Given the description of an element on the screen output the (x, y) to click on. 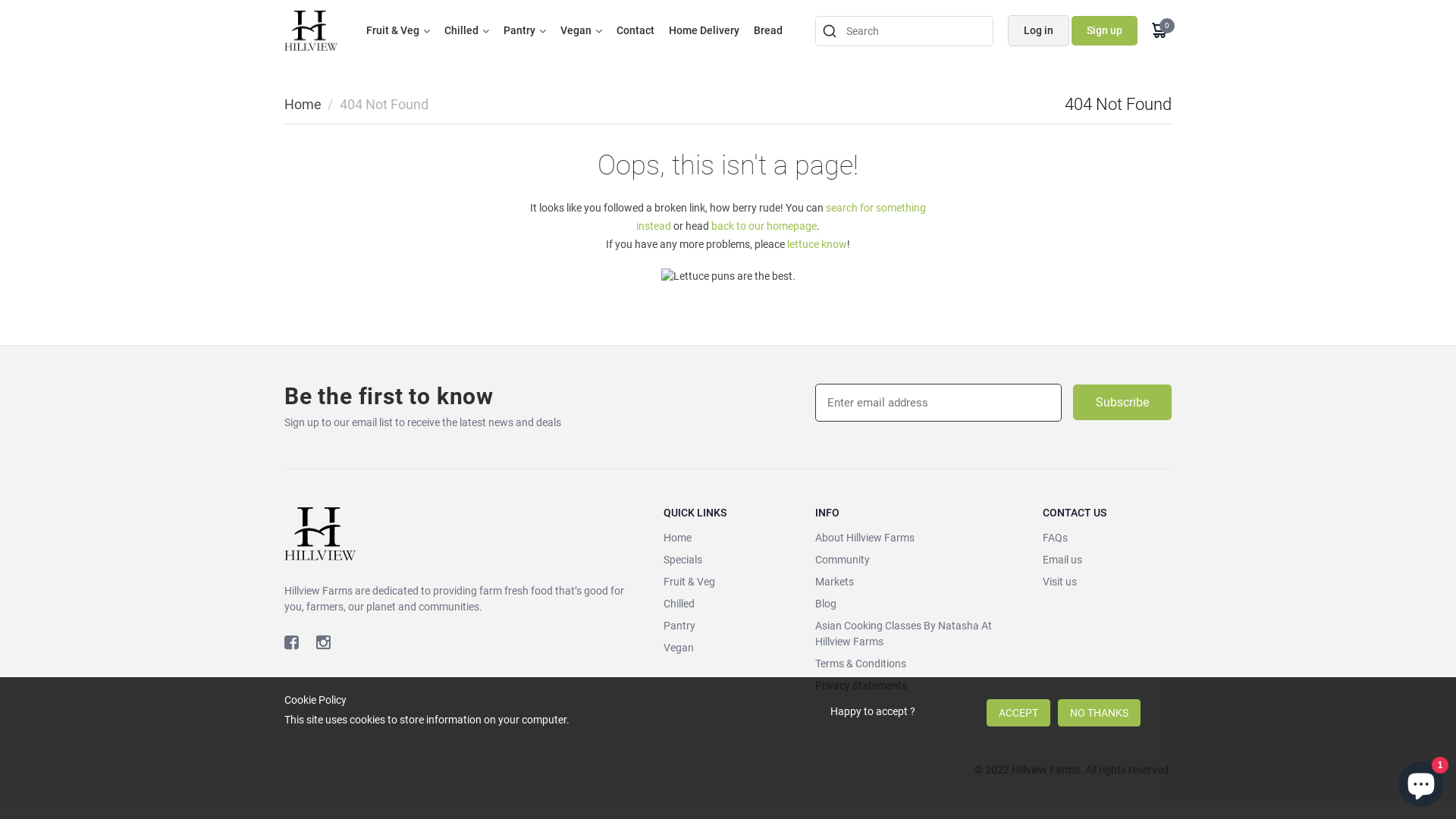
FAQs Element type: text (1106, 538)
Vegan Element type: text (727, 647)
0
- Element type: text (1161, 30)
Blog Element type: text (917, 603)
Vegan Element type: text (575, 30)
Email us Element type: text (1106, 559)
Markets Element type: text (917, 581)
Visit us Element type: text (1106, 581)
Bread Element type: text (767, 30)
Fruit & Veg Element type: text (392, 30)
About Hillview Farms Element type: text (917, 538)
Terms & Conditions Element type: text (917, 663)
Chilled Element type: text (727, 603)
Asian Cooking Classes By Natasha At Hillview Farms Element type: text (917, 633)
Shopify online store chat Element type: hover (1420, 780)
Specials Element type: text (727, 559)
Contact Element type: text (635, 30)
Log in Element type: text (1038, 30)
Subscribe Element type: text (1122, 402)
back to our homepage Element type: text (763, 225)
Home Element type: text (727, 538)
Lettuce puns are the best. Element type: hover (728, 276)
Home Element type: text (302, 103)
Fruit & Veg Element type: text (727, 581)
Chilled Element type: text (461, 30)
search for something instead Element type: text (780, 216)
Pantry Element type: text (519, 30)
Pantry Element type: text (727, 625)
Home Delivery Element type: text (703, 30)
Community Element type: text (917, 559)
lettuce know Element type: text (817, 244)
Privacy Statements Element type: text (917, 685)
Sign up Element type: text (1104, 30)
